Given the description of an element on the screen output the (x, y) to click on. 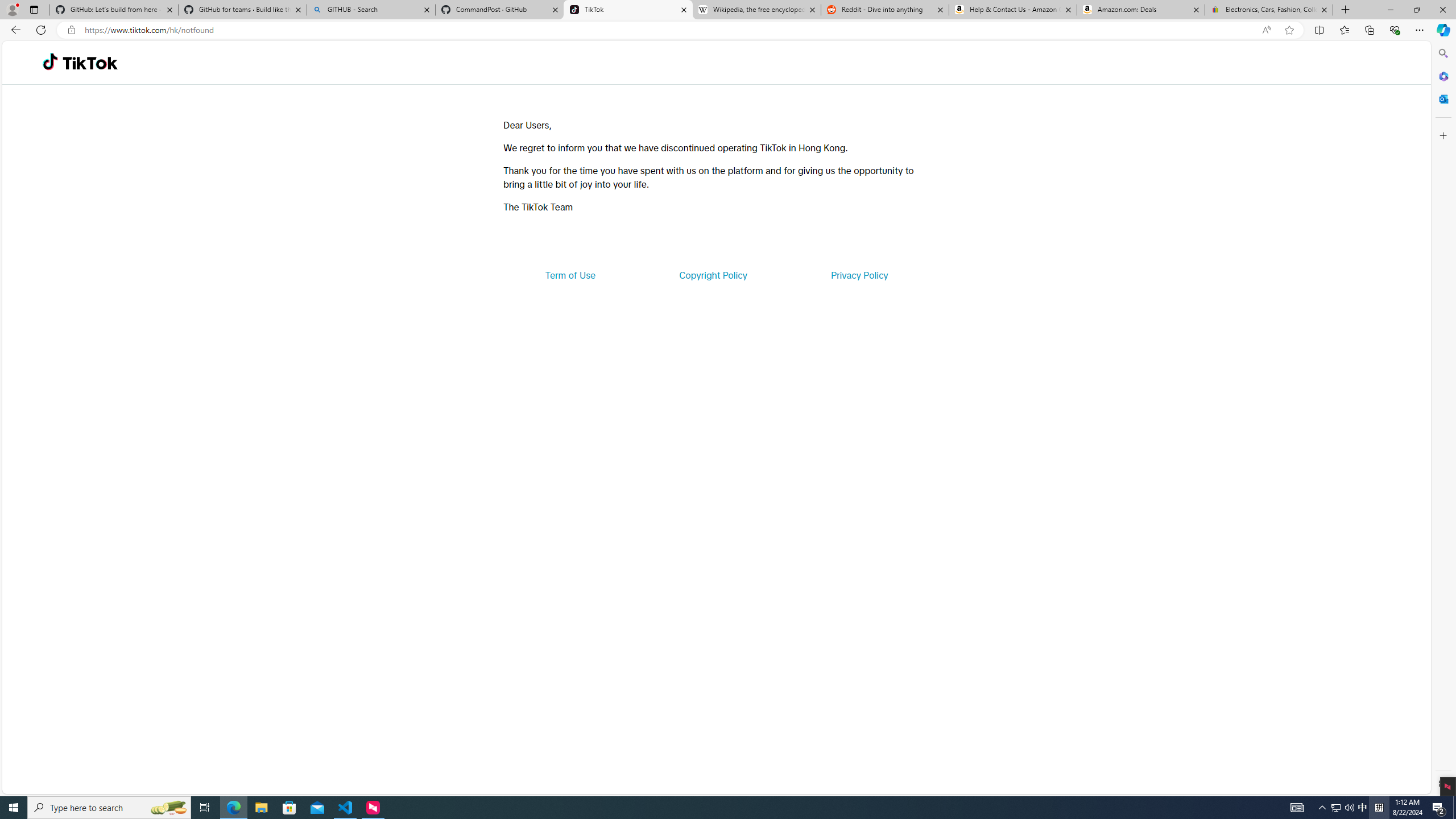
Wikipedia, the free encyclopedia (756, 9)
Copyright Policy (712, 274)
